Given the description of an element on the screen output the (x, y) to click on. 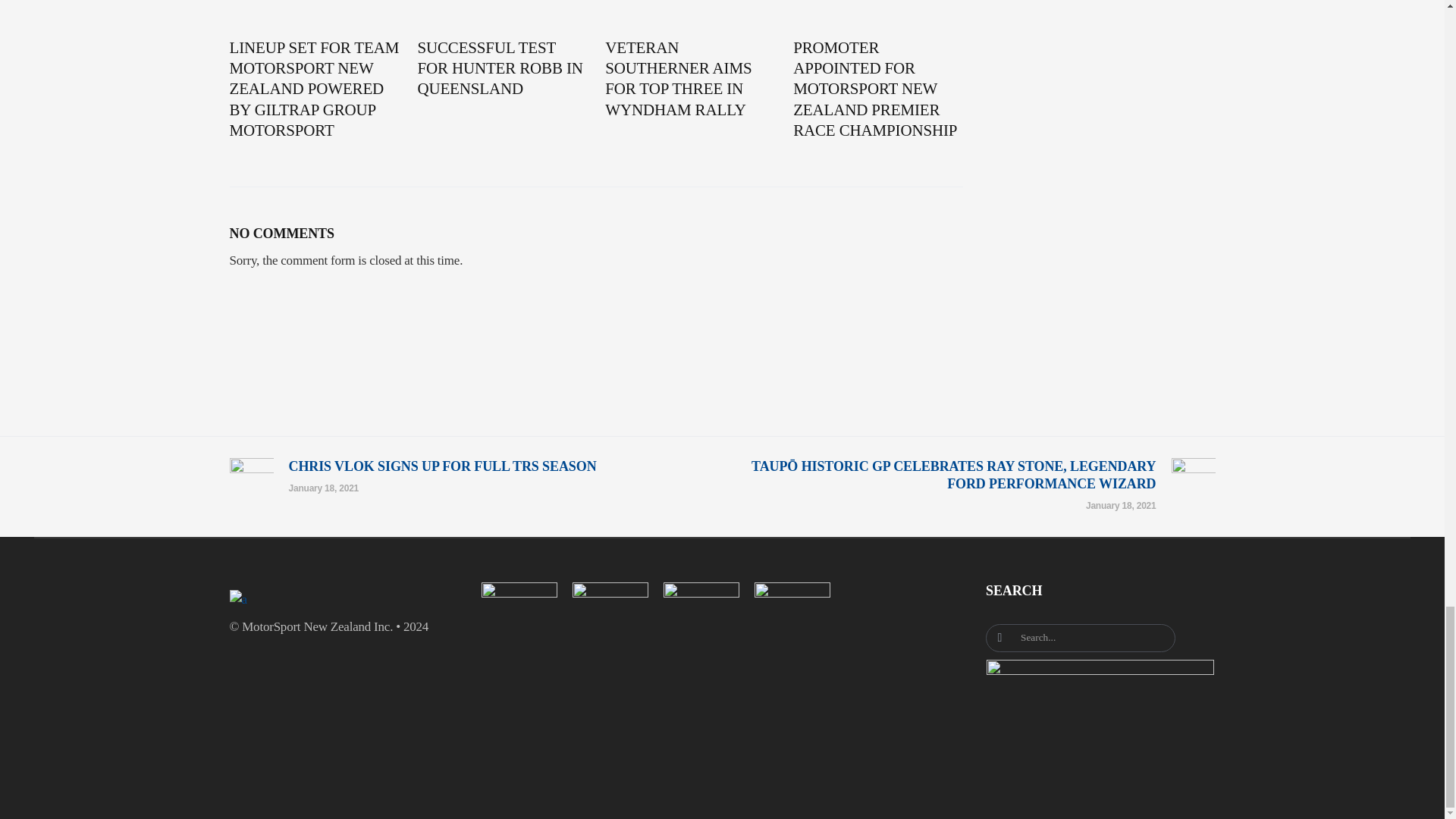
Veteran Southerner aims for top three in Wyndham Rally (689, 78)
Successful test for Hunter Robb in Queensland (501, 68)
